Given the description of an element on the screen output the (x, y) to click on. 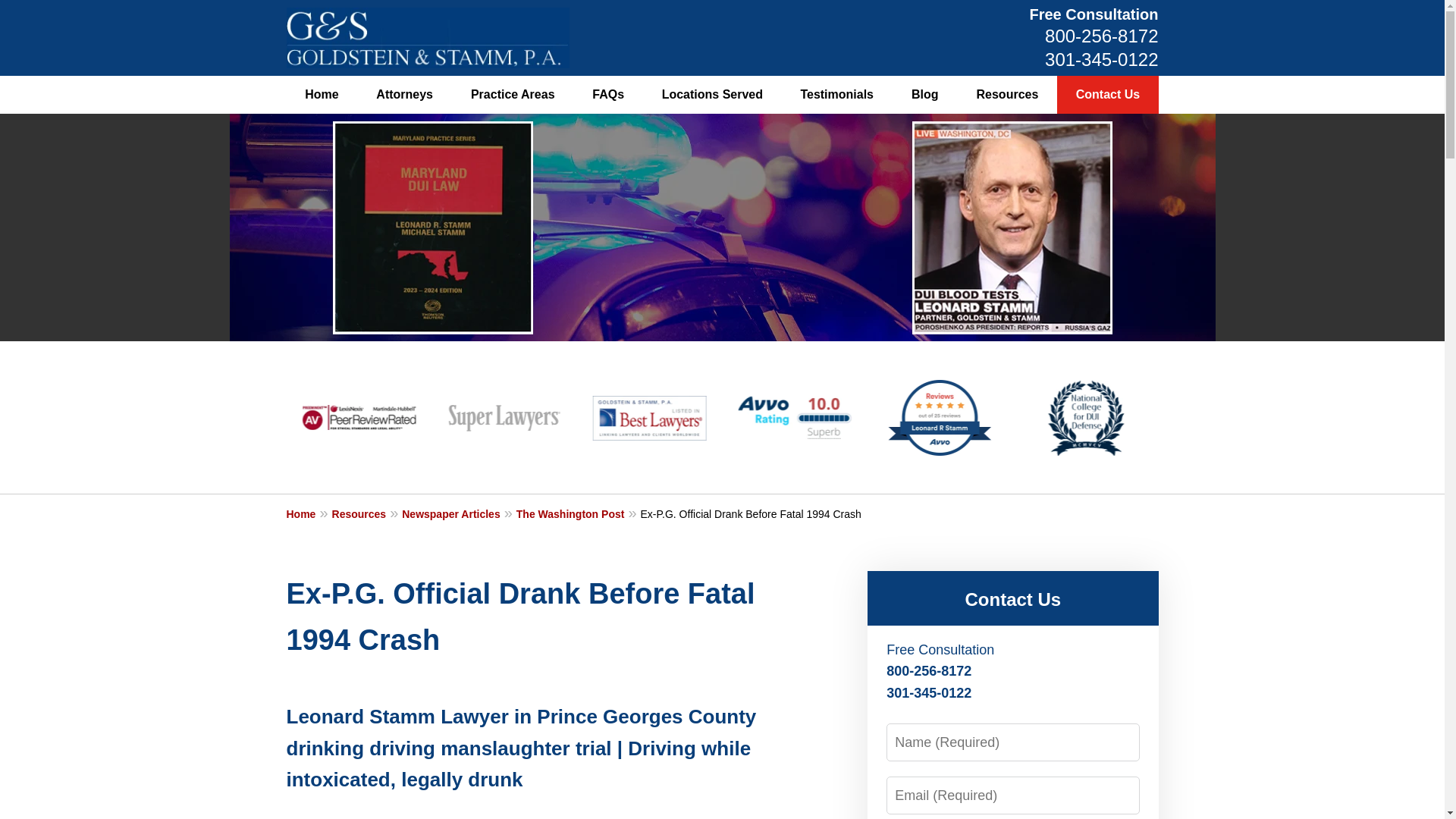
Testimonials (836, 94)
Resources (1006, 94)
FAQs (608, 94)
Home (322, 94)
Blog (925, 94)
800-256-8172 (1101, 35)
Attorneys (403, 94)
Locations Served (712, 94)
Free Consultation (1093, 13)
Practice Areas (512, 94)
301-345-0122 (1101, 59)
Contact Us (1107, 94)
